Given the description of an element on the screen output the (x, y) to click on. 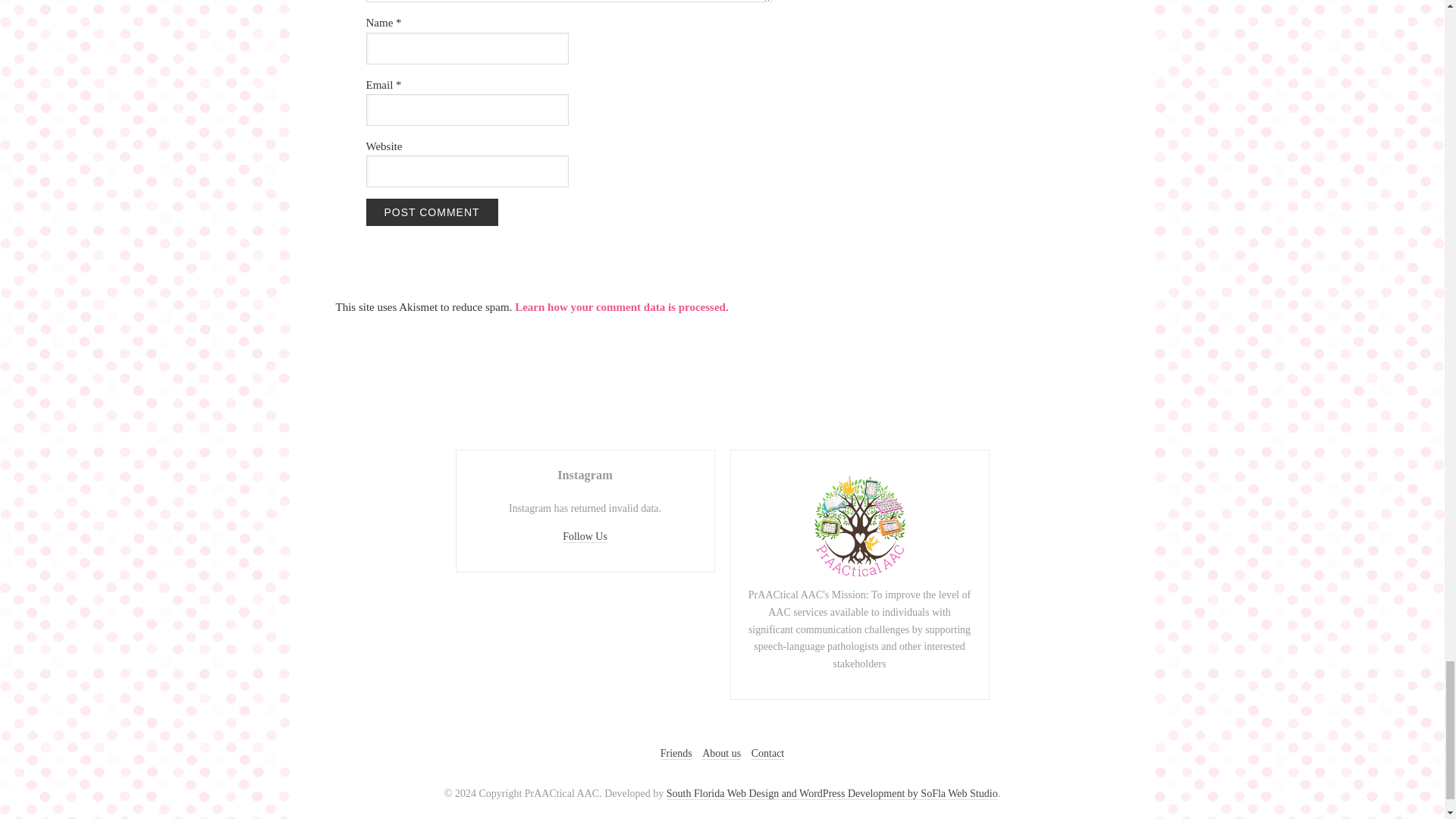
Post Comment (431, 212)
Learn how your comment data is processed (620, 306)
South Florida Web Design (831, 793)
Post Comment (431, 212)
